Given the description of an element on the screen output the (x, y) to click on. 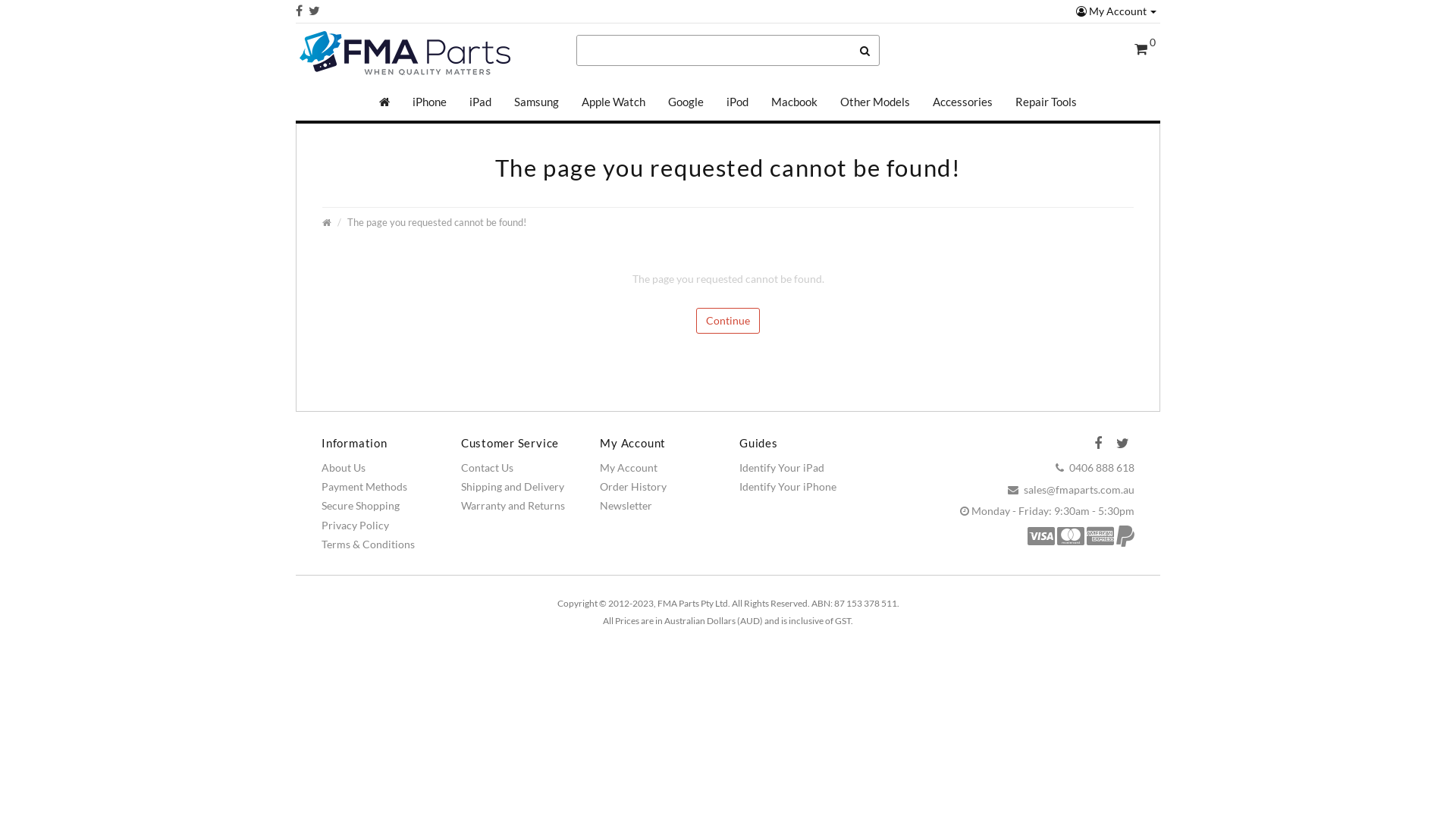
Identify Your iPhone Element type: text (787, 486)
Macbook Element type: text (793, 101)
Warranty and Returns Element type: text (512, 504)
Secure Shopping Element type: text (360, 504)
Other Models Element type: text (874, 101)
Terms & Conditions Element type: text (367, 543)
Newsletter Element type: text (625, 504)
iPod Element type: text (737, 101)
Samsung Element type: text (536, 101)
Payment Methods Element type: text (364, 486)
0 Element type: text (1144, 49)
My Account Element type: text (628, 467)
Google Element type: text (685, 101)
Order History Element type: text (632, 486)
Home Element type: hover (384, 101)
iPhone Element type: text (429, 101)
The page you requested cannot be found! Element type: text (436, 222)
My Account Element type: text (1116, 10)
Apple Watch Element type: text (613, 101)
Accessories Element type: text (962, 101)
Continue Element type: text (727, 320)
Repair Tools Element type: text (1046, 101)
Privacy Policy Element type: text (355, 524)
Identify Your iPad Element type: text (781, 467)
About Us Element type: text (343, 467)
Contact Us Element type: text (487, 467)
Shipping and Delivery Element type: text (512, 486)
iPad Element type: text (480, 101)
